Given the description of an element on the screen output the (x, y) to click on. 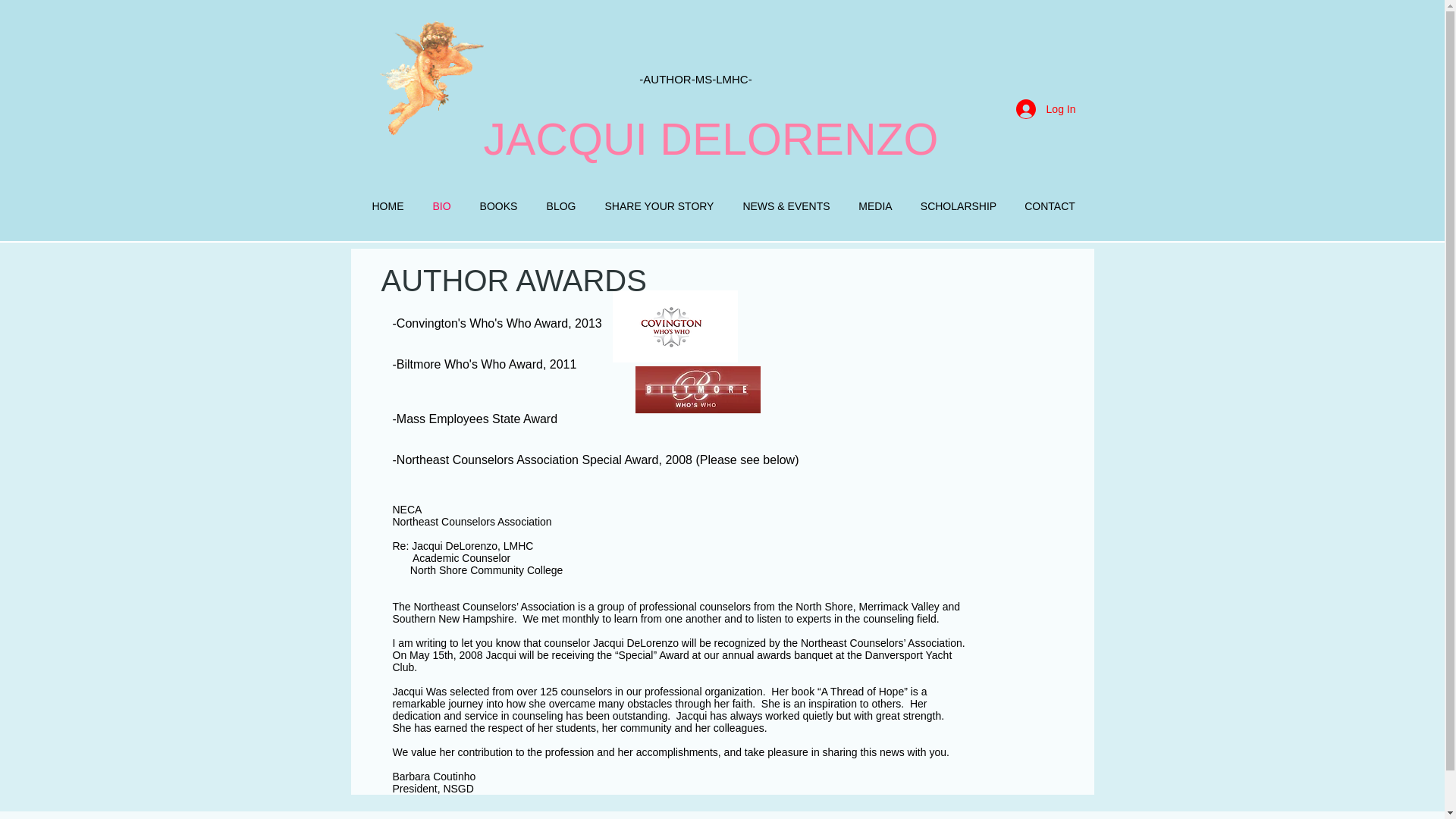
CONTACT (1049, 206)
HOME (388, 206)
-Biltmore Who's Who Award, 2011 (484, 364)
SHARE YOUR STORY (658, 206)
LOGO1.png (675, 326)
Log In (1046, 109)
angel5.gif (430, 77)
JACQUI DELORENZO (711, 139)
BIO (442, 206)
BOOKS (498, 206)
BLOG (561, 206)
MEDIA (875, 206)
SCHOLARSHIP (958, 206)
